Given the description of an element on the screen output the (x, y) to click on. 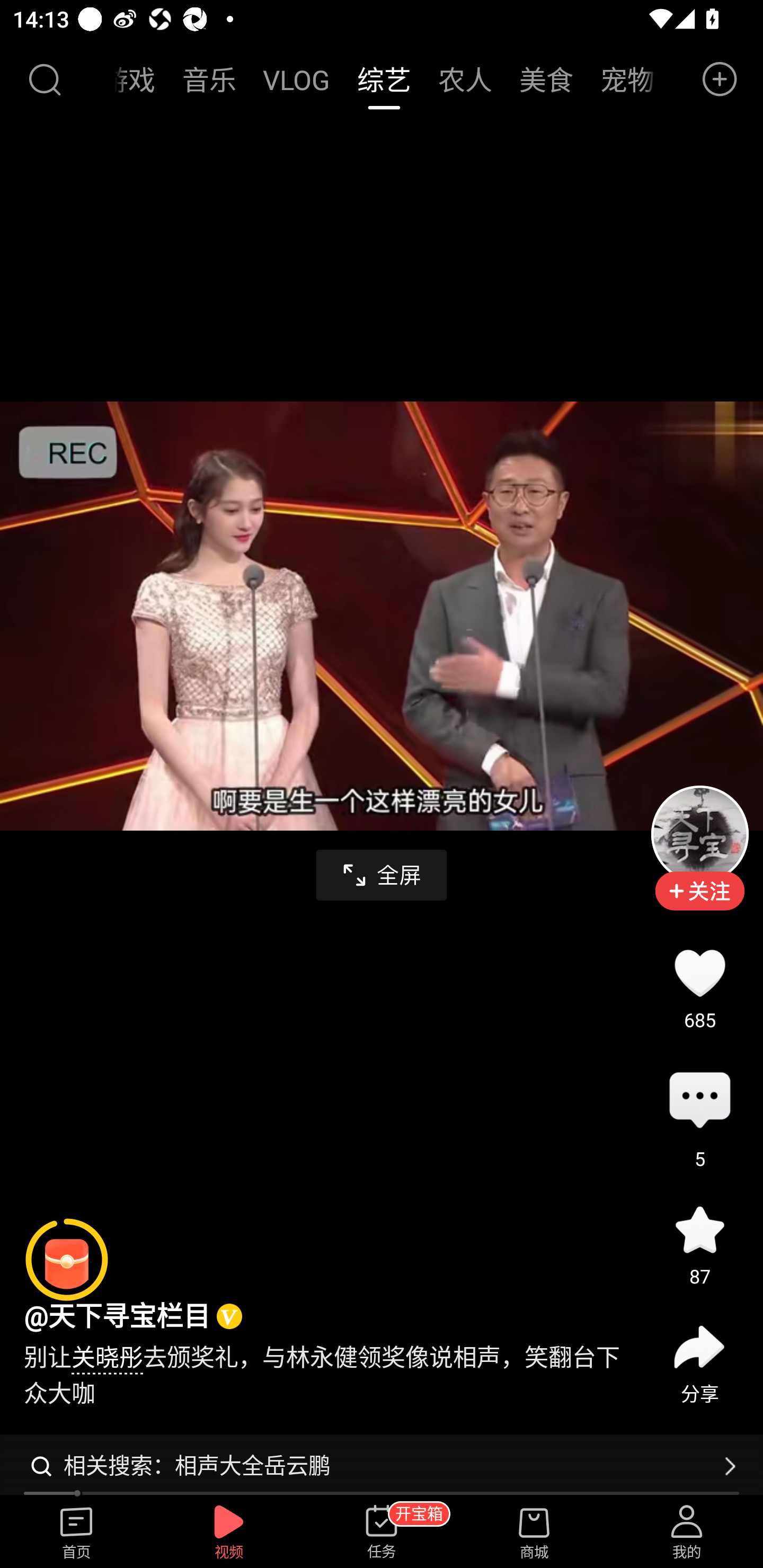
音乐 (209, 79)
VLOG (296, 79)
综艺 (384, 79)
农人 (464, 79)
美食 (545, 79)
宠物 (621, 79)
搜索 (44, 79)
发布 (720, 79)
头像 (699, 833)
全屏播放 (381, 874)
点赞685 685 (699, 972)
评论5 评论 5 (699, 1101)
收藏 87 (699, 1229)
阅读赚金币 (66, 1259)
分享 (699, 1347)
@天下寻宝栏目 (116, 1316)
相关搜索：相声大全岳云鹏 (381, 1465)
首页 (76, 1532)
视频 (228, 1532)
任务 开宝箱 (381, 1532)
商城 (533, 1532)
我的 (686, 1532)
